Given the description of an element on the screen output the (x, y) to click on. 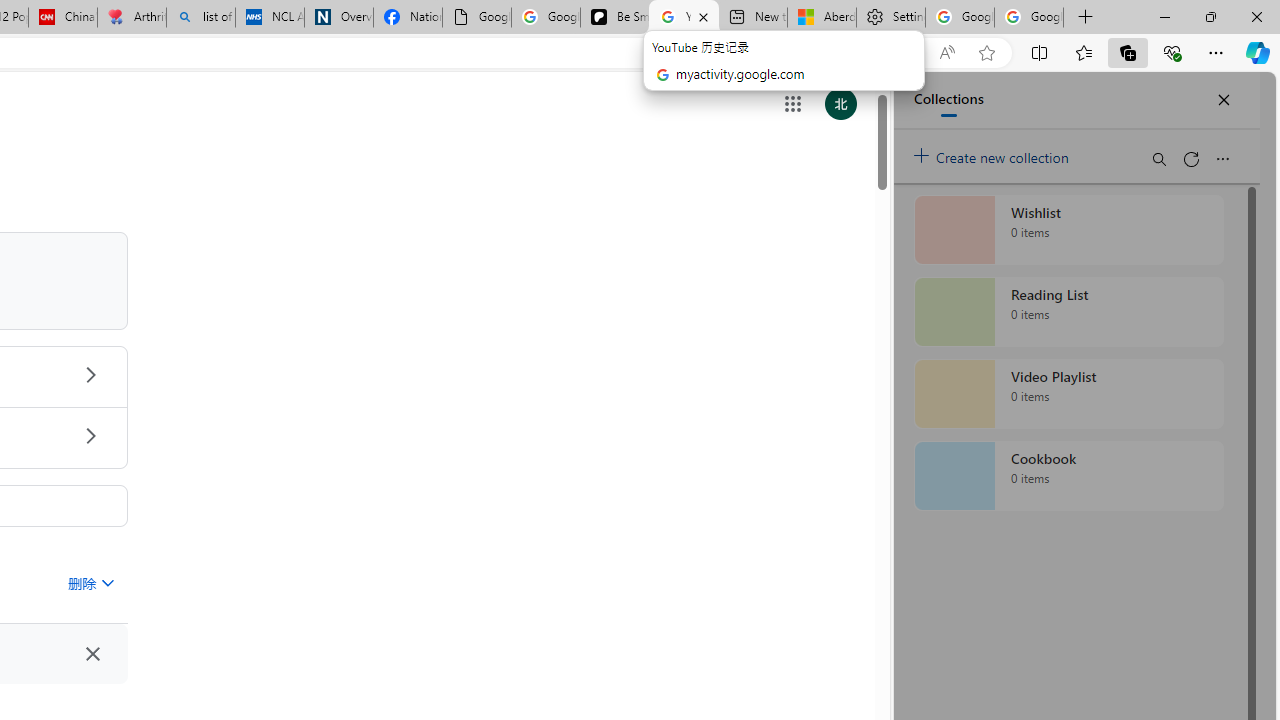
Be Smart | creating Science videos | Patreon (614, 17)
